Given the description of an element on the screen output the (x, y) to click on. 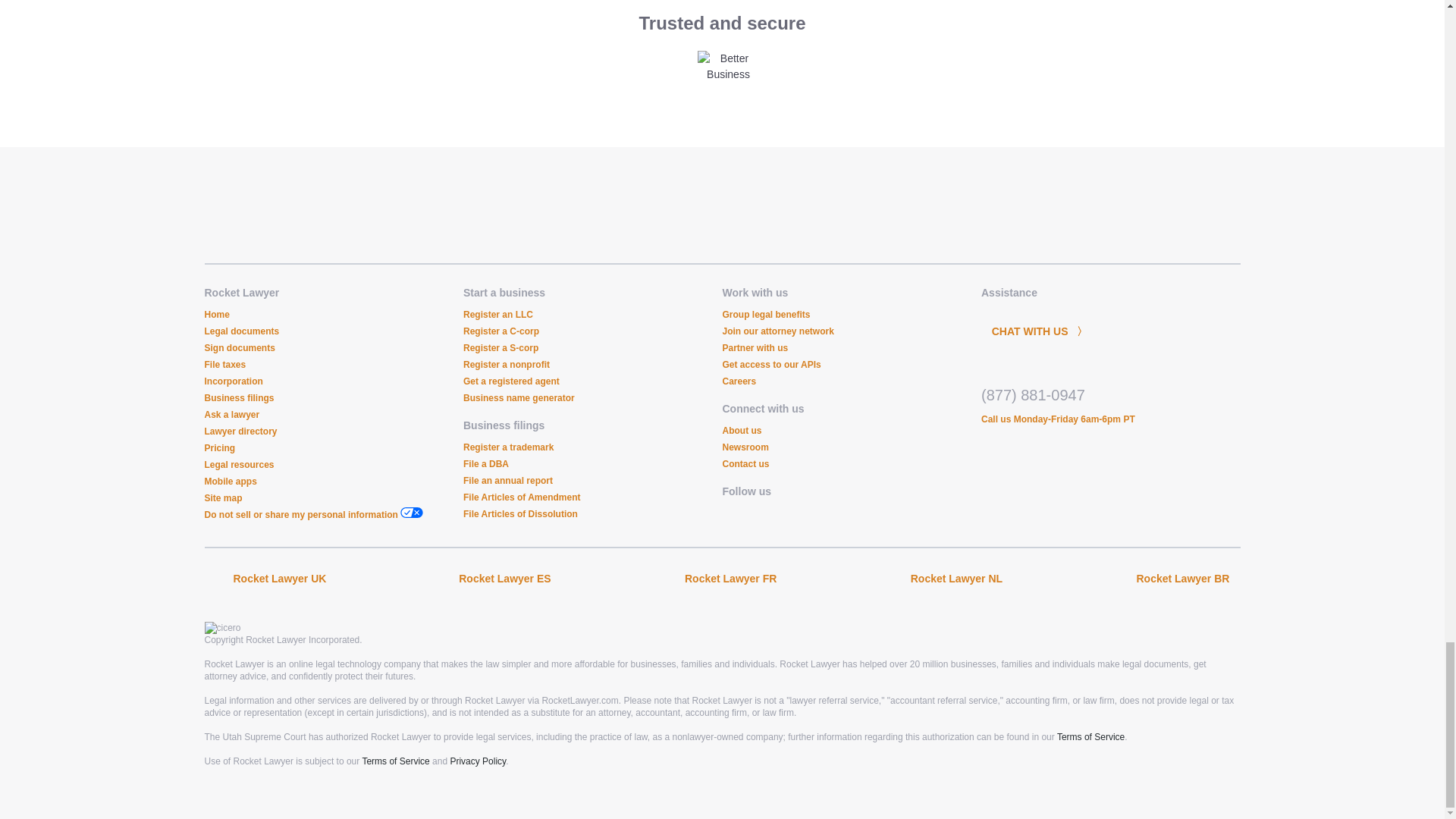
Business filings (240, 398)
Sign documents (240, 347)
File taxes (225, 364)
Ask a lawyer (232, 414)
Pricing (220, 448)
Legal documents (242, 330)
Lawyer directory (241, 430)
Home (217, 314)
Incorporation (234, 380)
